Given the description of an element on the screen output the (x, y) to click on. 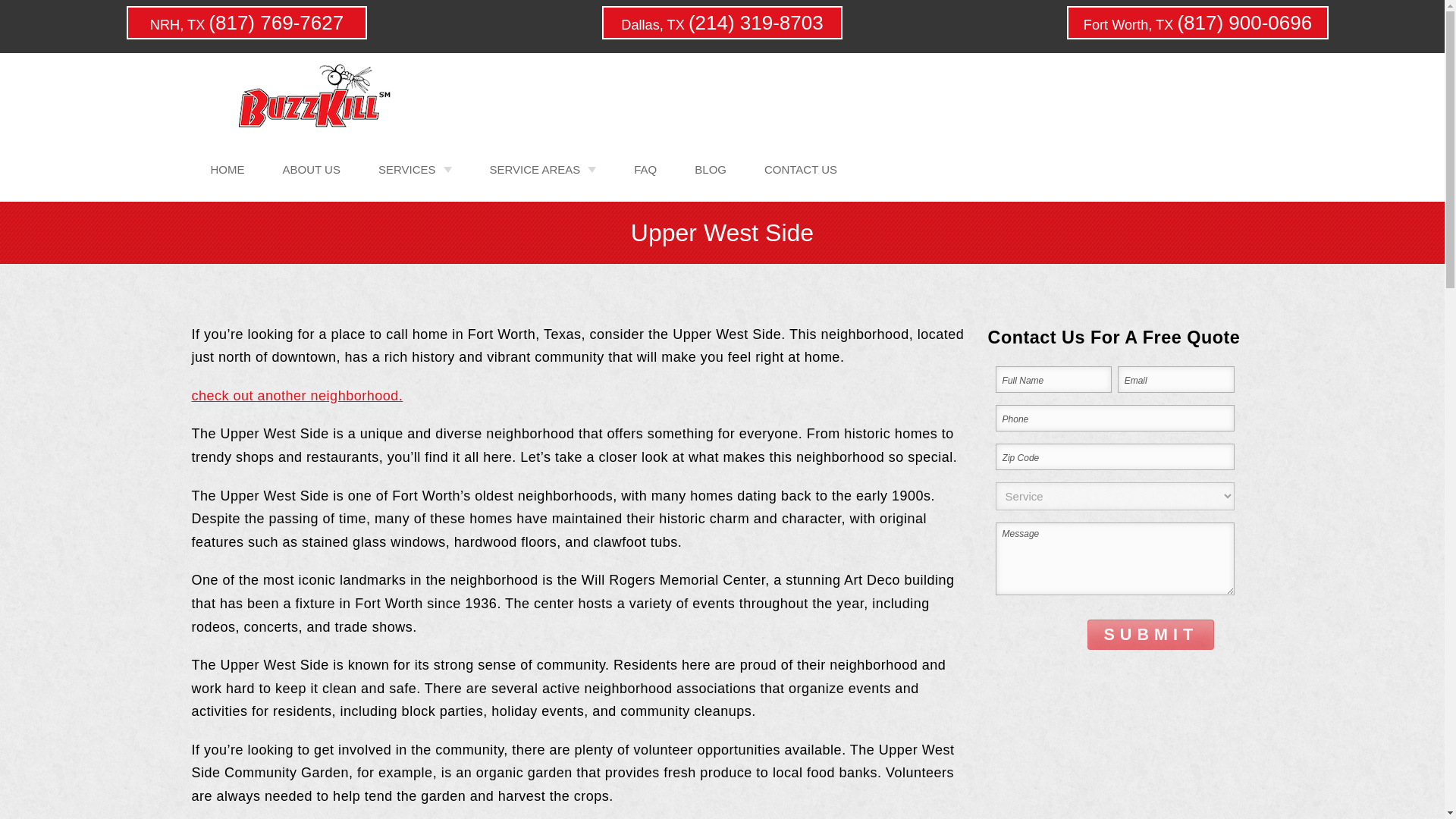
SERVICES (414, 169)
NORTH RICHLAND HILLS TX (489, 204)
Live chat (1401, 767)
HOME (226, 169)
PEST CONTROL (378, 204)
ABOUT US (311, 169)
Submit (1150, 634)
SERVICE AREAS (542, 169)
